Given the description of an element on the screen output the (x, y) to click on. 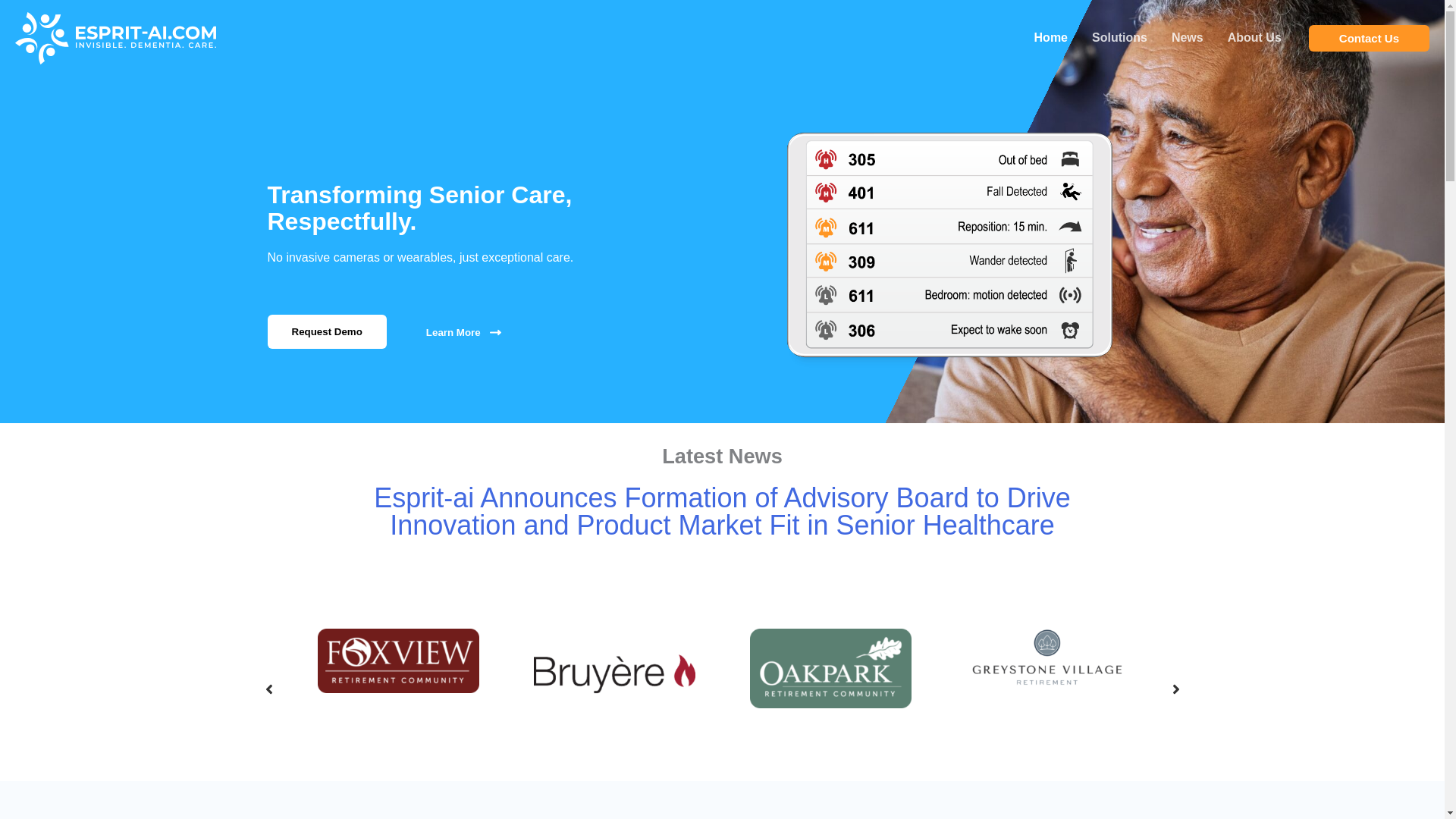
About Us (1254, 37)
Learn More (463, 332)
Solutions (1119, 37)
News (1186, 37)
Home (1051, 37)
home-device-badge (953, 247)
Contact Us (1368, 38)
Request Demo (325, 331)
